Given the description of an element on the screen output the (x, y) to click on. 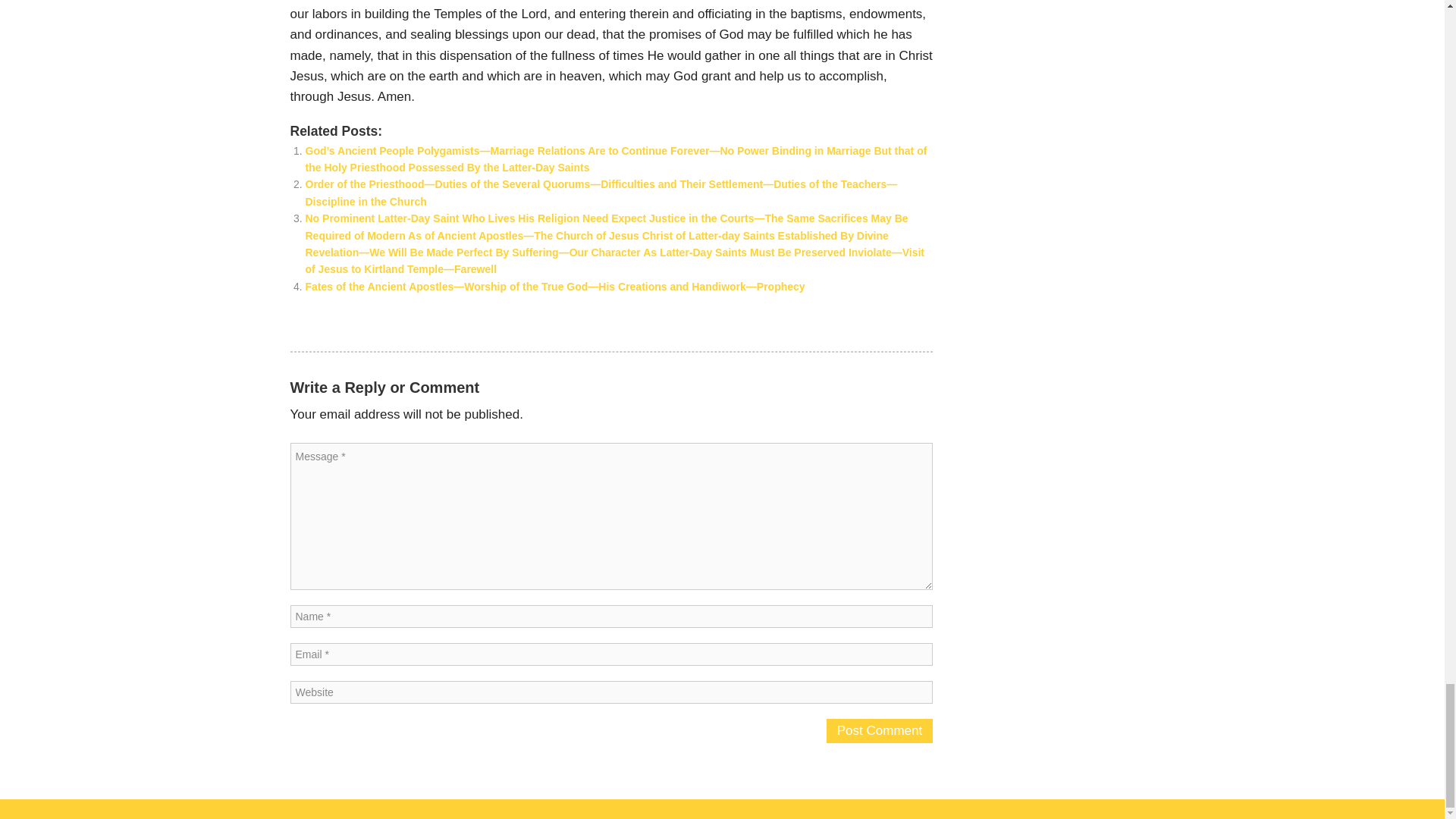
Website (611, 691)
Post Comment (880, 730)
